Given the description of an element on the screen output the (x, y) to click on. 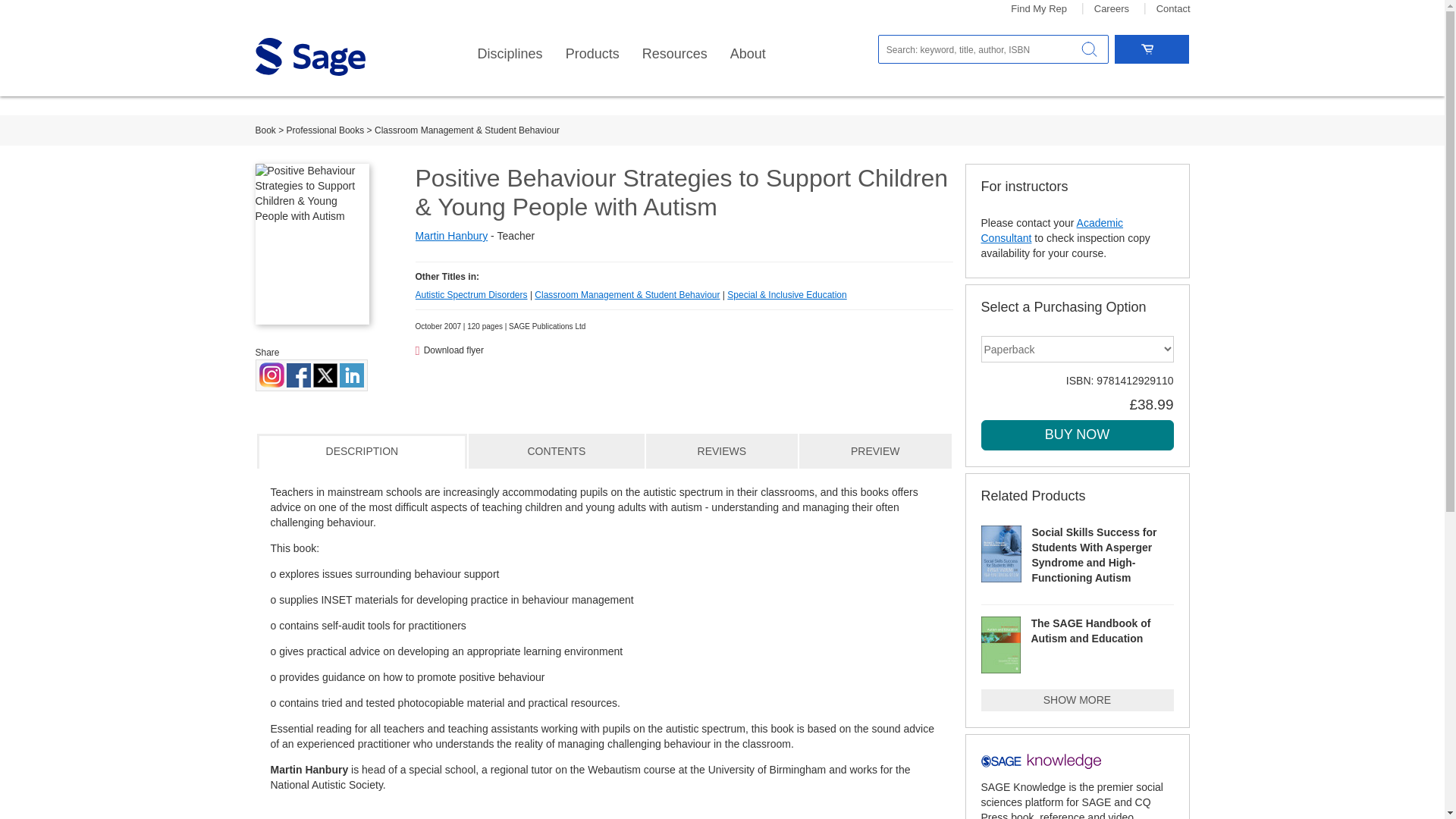
Careers (1111, 8)
Buy now (1077, 435)
Disciplines (509, 53)
Contact (1173, 8)
Find My Rep (1038, 8)
Sage logo: link back to homepage (309, 56)
Search (1089, 48)
